Given the description of an element on the screen output the (x, y) to click on. 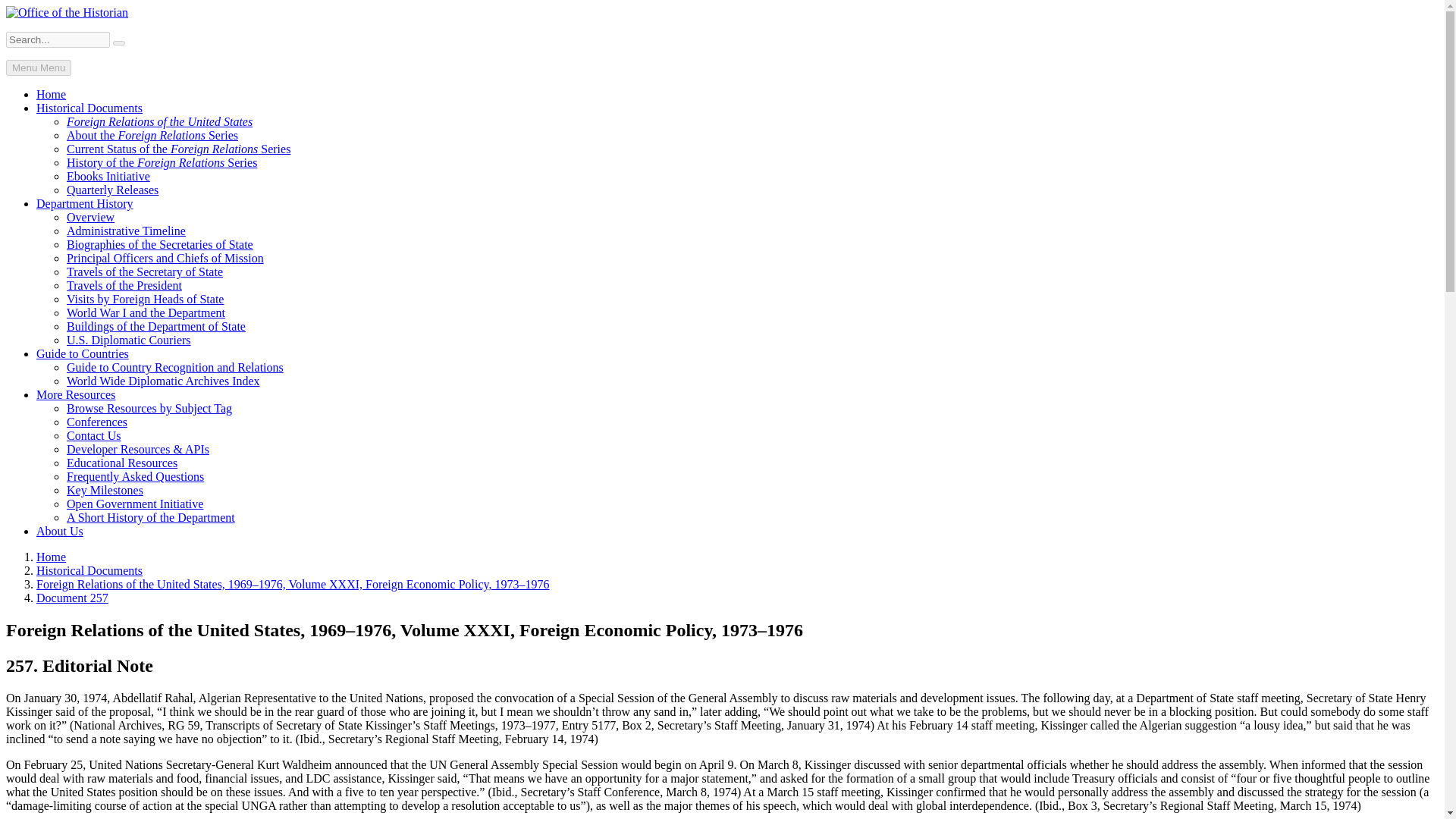
About the Foreign Relations Series (152, 134)
Biographies of the Secretaries of State (159, 244)
Administrative Timeline (126, 230)
Conferences (97, 421)
Document 257 (71, 597)
World War I and the Department (145, 312)
History of the Foreign Relations Series (161, 162)
Principal Officers and Chiefs of Mission (164, 257)
Historical Documents (89, 570)
Contact Us (93, 435)
Overview (90, 216)
Frequently Asked Questions (134, 476)
Home (50, 556)
Travels of the President (124, 285)
Guide to Country Recognition and Relations (174, 367)
